Given the description of an element on the screen output the (x, y) to click on. 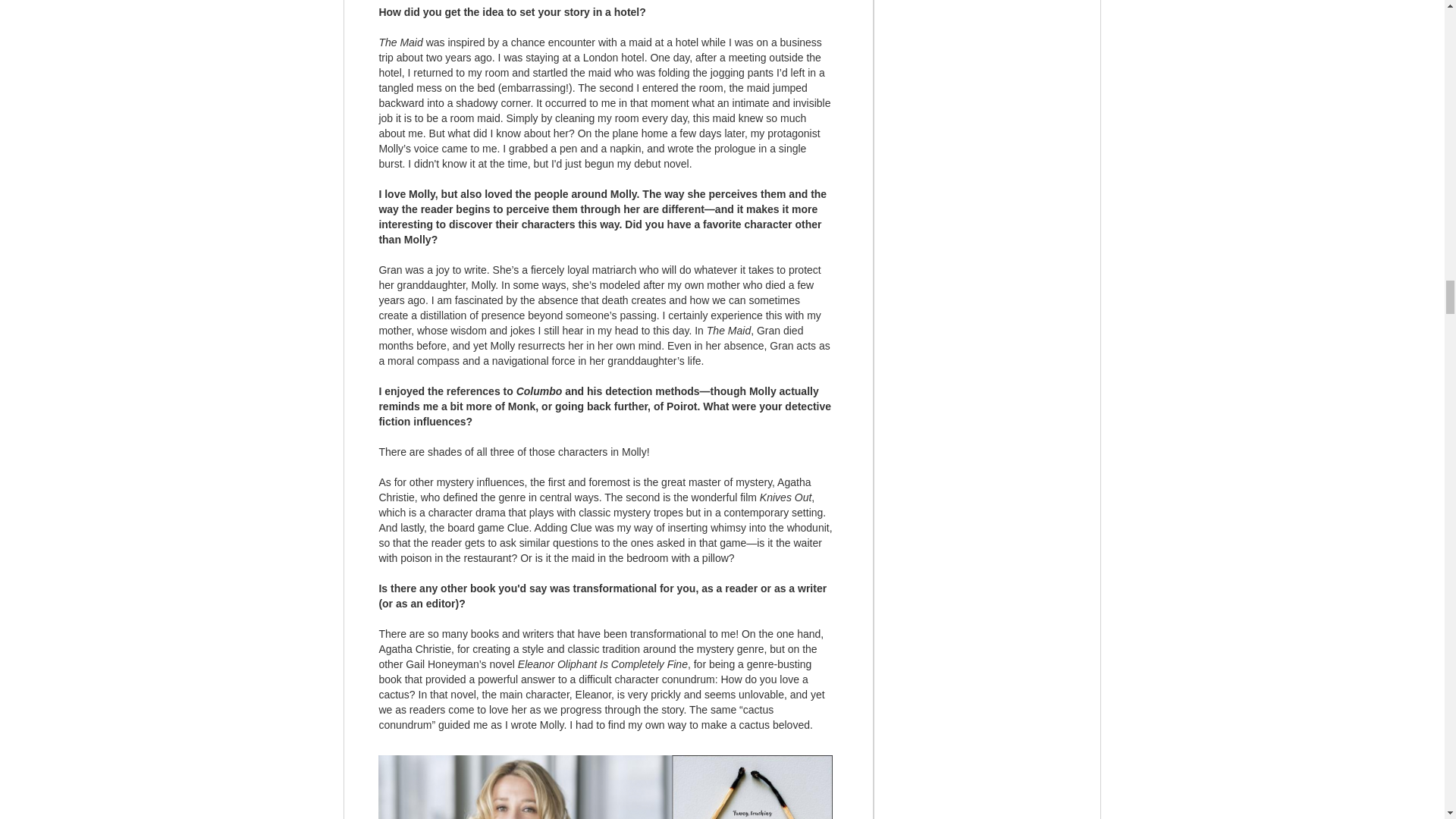
Eleanor Oliphant in Completely Fine by Gail Honeyman (604, 787)
